Given the description of an element on the screen output the (x, y) to click on. 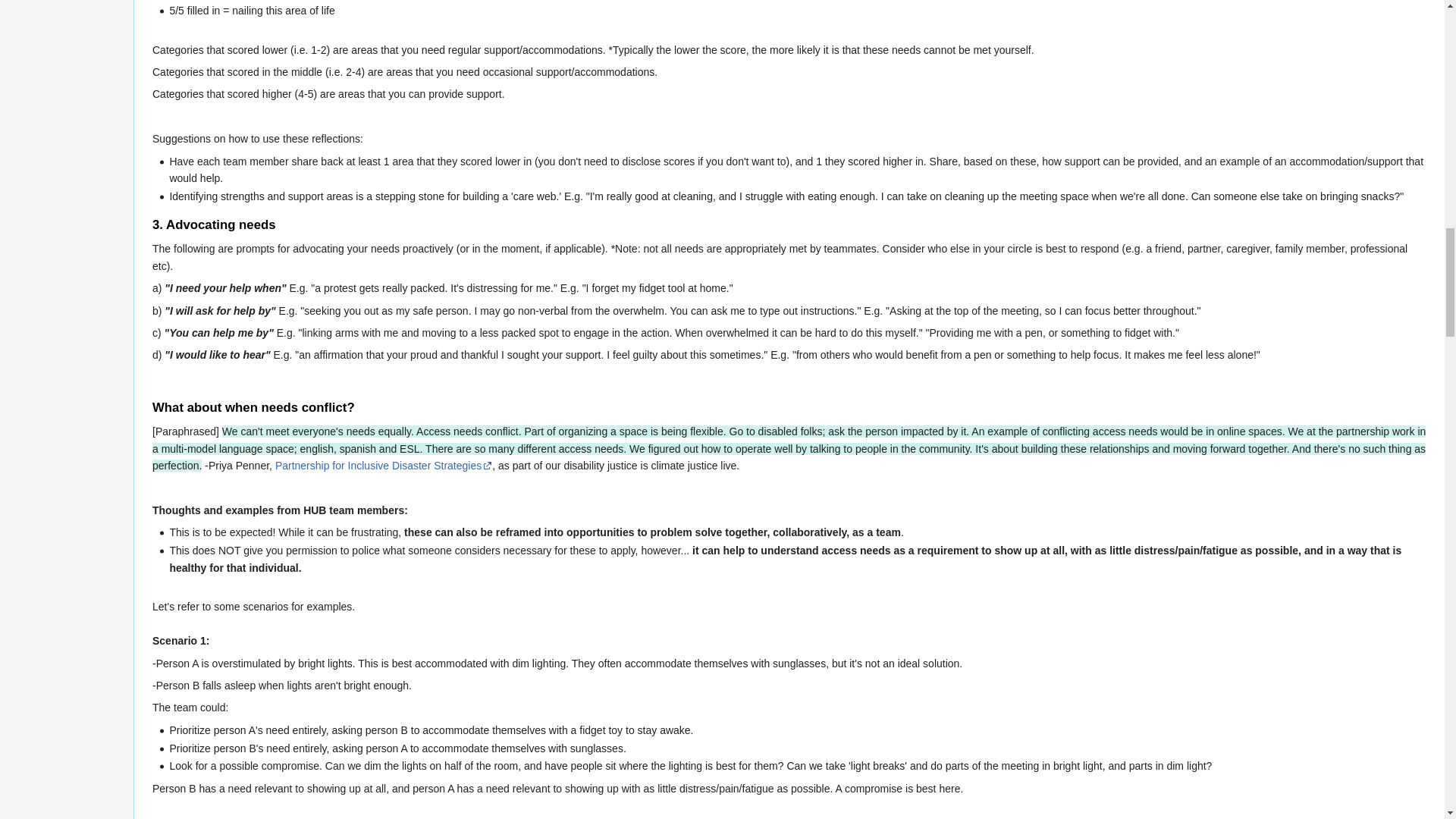
Partnership for Inclusive Disaster Strategies (383, 465)
